Given the description of an element on the screen output the (x, y) to click on. 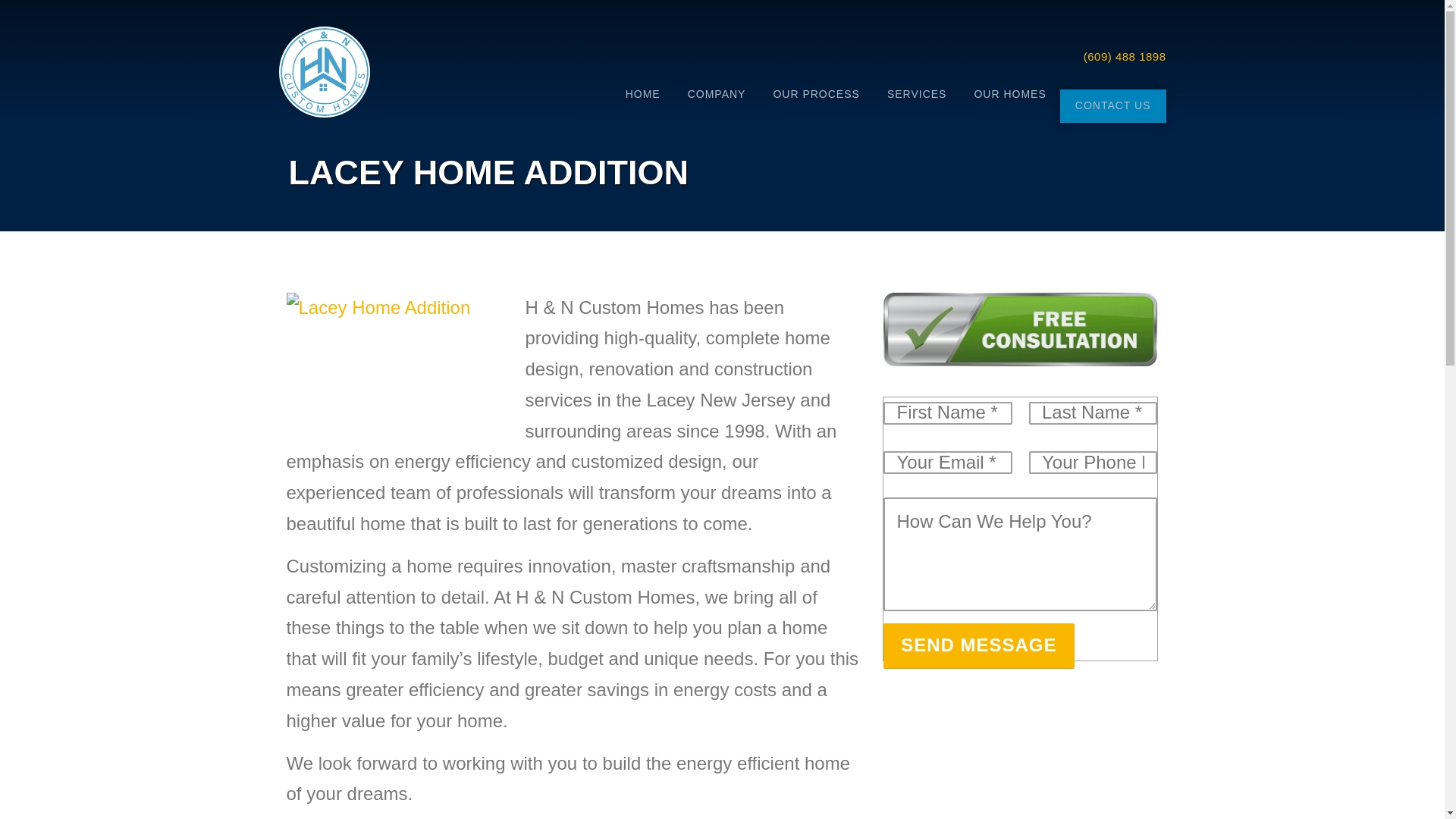
HOME (642, 105)
Send Message (978, 646)
COMPANY (717, 105)
CONTACT US (1112, 105)
SERVICES (916, 105)
OUR HOMES (1009, 105)
OUR PROCESS (815, 105)
Send Message (978, 646)
